Given the description of an element on the screen output the (x, y) to click on. 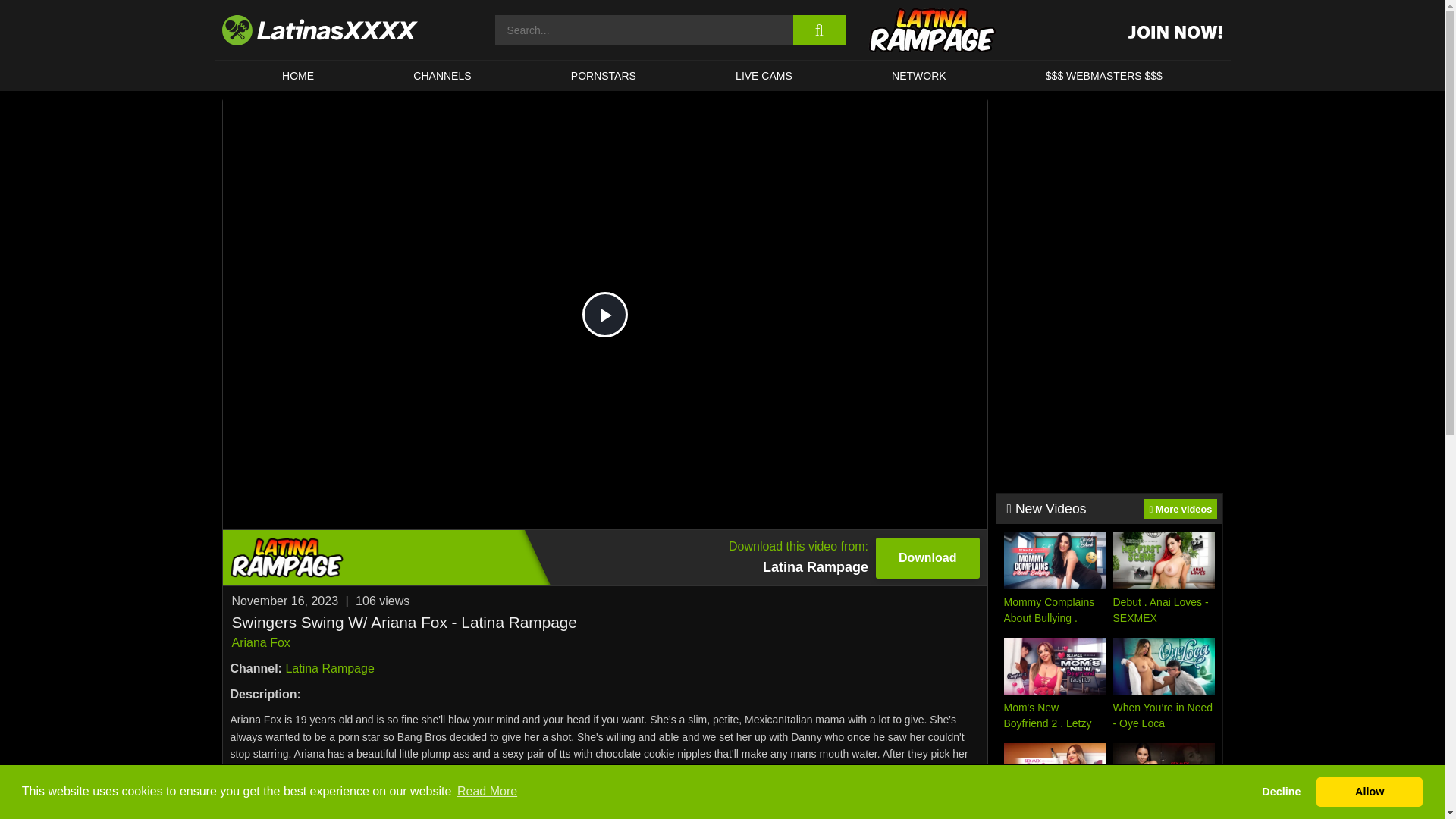
CHANNELS (442, 75)
Read more (604, 798)
Play Video (604, 313)
NETWORK (918, 75)
PORNSTARS (603, 75)
Latina Rampage (329, 667)
HOME (296, 75)
Play Video (604, 313)
Ariana Fox (604, 557)
LIVE CAMS (260, 642)
